Given the description of an element on the screen output the (x, y) to click on. 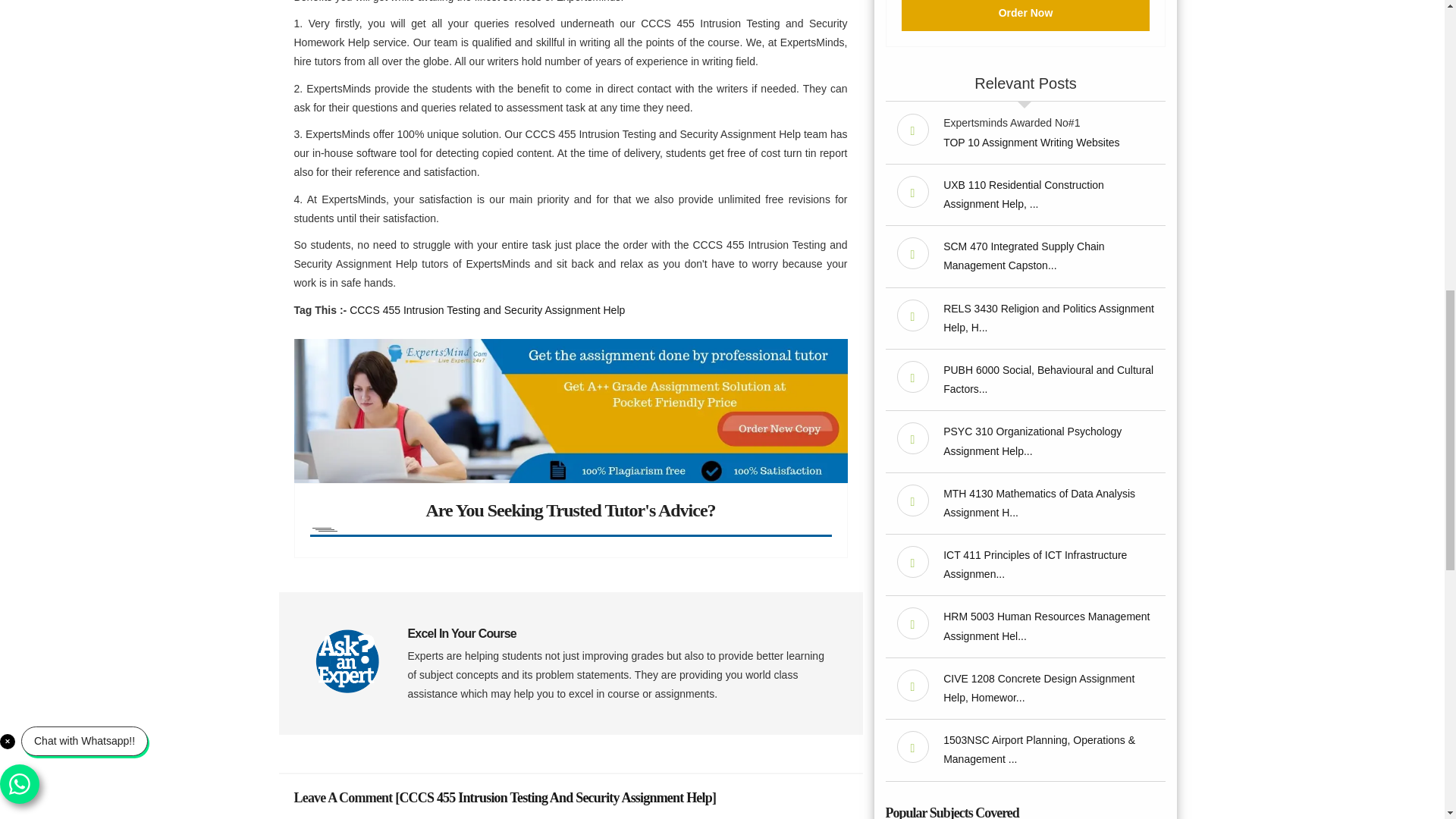
TOP 10 Assignment Writing Websites (1031, 142)
CCCS 455 Intrusion Testing And Security Assignment Help (554, 797)
RELS 3430 Religion and Politics Assignment Help, H... (1048, 317)
MTH 4130 Mathematics of Data Analysis Assignment H... (1039, 502)
SCM 470 Integrated Supply Chain Management Capston... (1023, 255)
CIVE 1208 Concrete Design Assignment Help, Homewor... (1038, 687)
PSYC 310 Organizational Psychology Assignment Help... (1032, 440)
Order Now (1025, 15)
CCCS 455 Intrusion Testing and Security Assignment Help (486, 309)
HRM 5003 Human Resources Management Assignment Hel... (1046, 625)
